Given the description of an element on the screen output the (x, y) to click on. 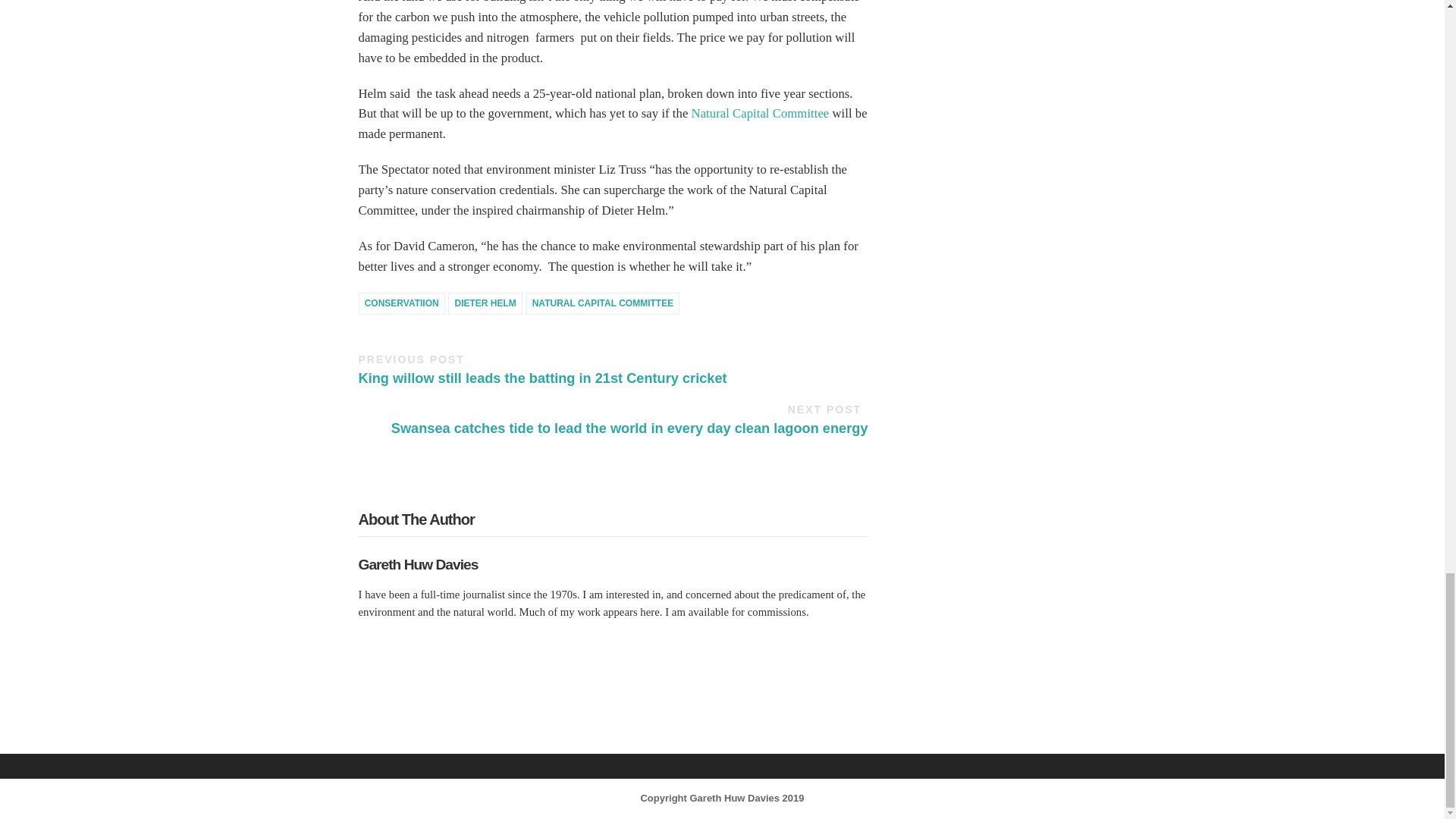
NATURAL CAPITAL COMMITTEE (602, 302)
DIETER HELM (485, 302)
Natural Capital Committee (760, 113)
CONSERVATIION (401, 302)
